Given the description of an element on the screen output the (x, y) to click on. 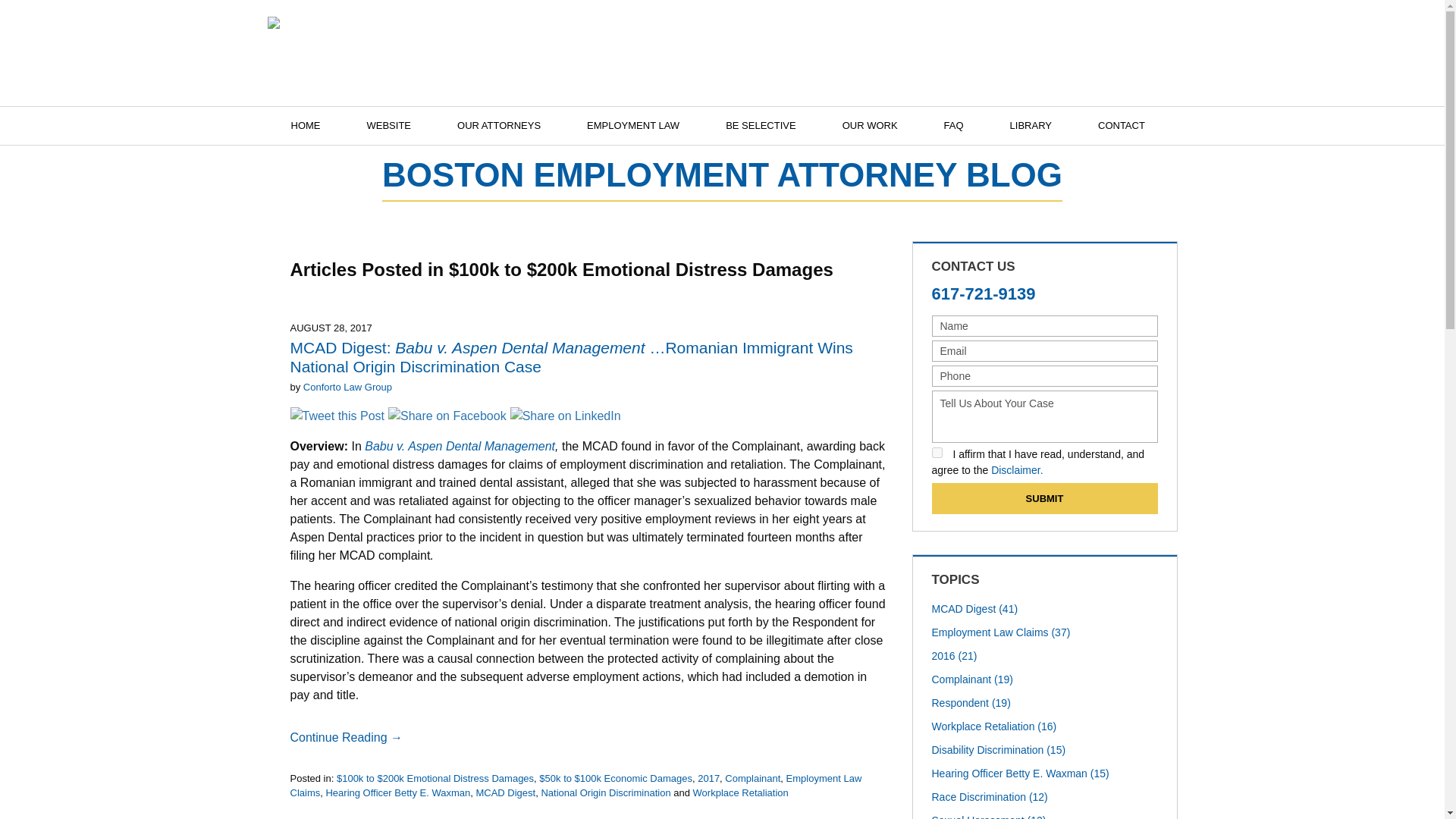
View all posts in Employment Law Claims (575, 786)
WEBSITE (387, 125)
MCAD Digest (505, 792)
LIBRARY (1030, 125)
National Origin Discrimination (604, 792)
OUR ATTORNEYS (498, 125)
View all posts in MCAD Digest (505, 792)
View all posts in Complainant (752, 778)
View all posts in Workplace Retaliation (741, 792)
Boston Employment Attorney Blog (391, 48)
Workplace Retaliation (741, 792)
Hearing Officer Betty E. Waxman (397, 792)
EMPLOYMENT LAW (632, 125)
2017 (708, 778)
Employment Law Claims (575, 786)
